Given the description of an element on the screen output the (x, y) to click on. 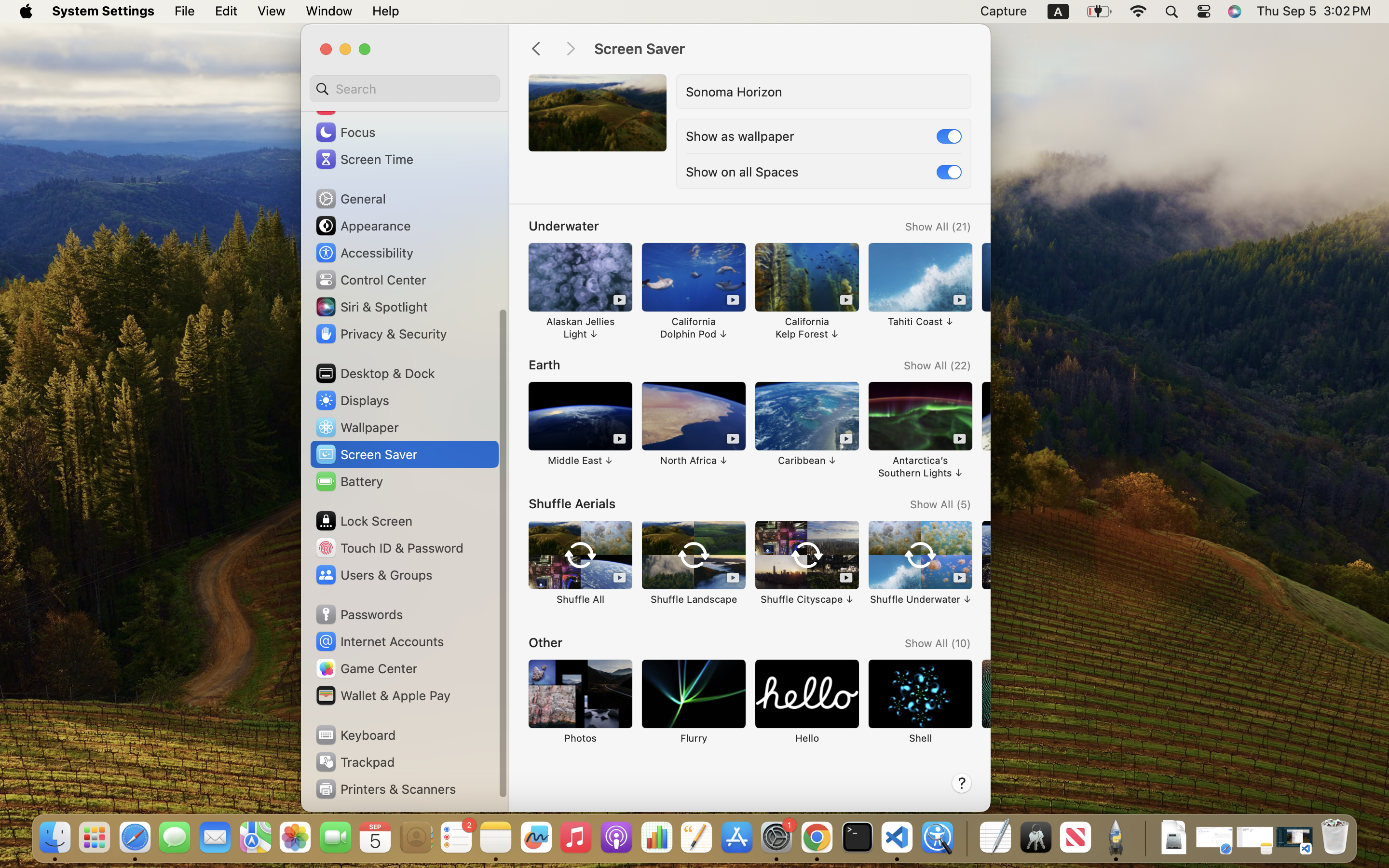
Game Center Element type: AXStaticText (365, 667)
Sonoma Horizon Element type: AXStaticText (733, 91)
Appearance Element type: AXStaticText (362, 225)
Battery Element type: AXStaticText (348, 480)
Wallet & Apple Pay Element type: AXStaticText (382, 694)
